Given the description of an element on the screen output the (x, y) to click on. 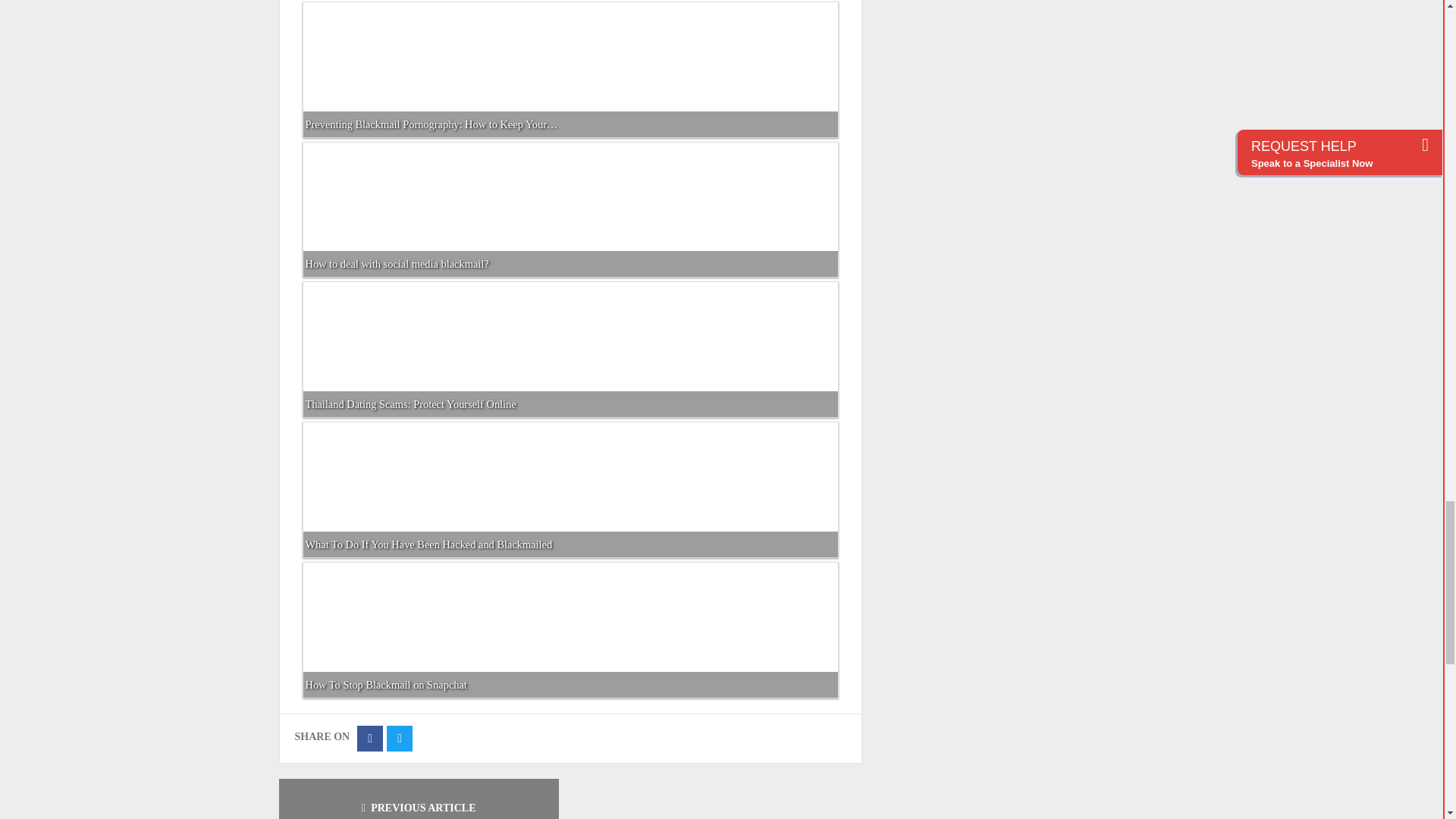
Share on Facebook (369, 738)
Thailand Dating Scams: Protect Yourself Online (570, 335)
What To Do If You Have Been Hacked and Blackmailed (570, 475)
How To Stop Blackmail on Snapchat (570, 615)
Share on Twitter (399, 738)
How to deal with social media blackmail? (570, 195)
